Given the description of an element on the screen output the (x, y) to click on. 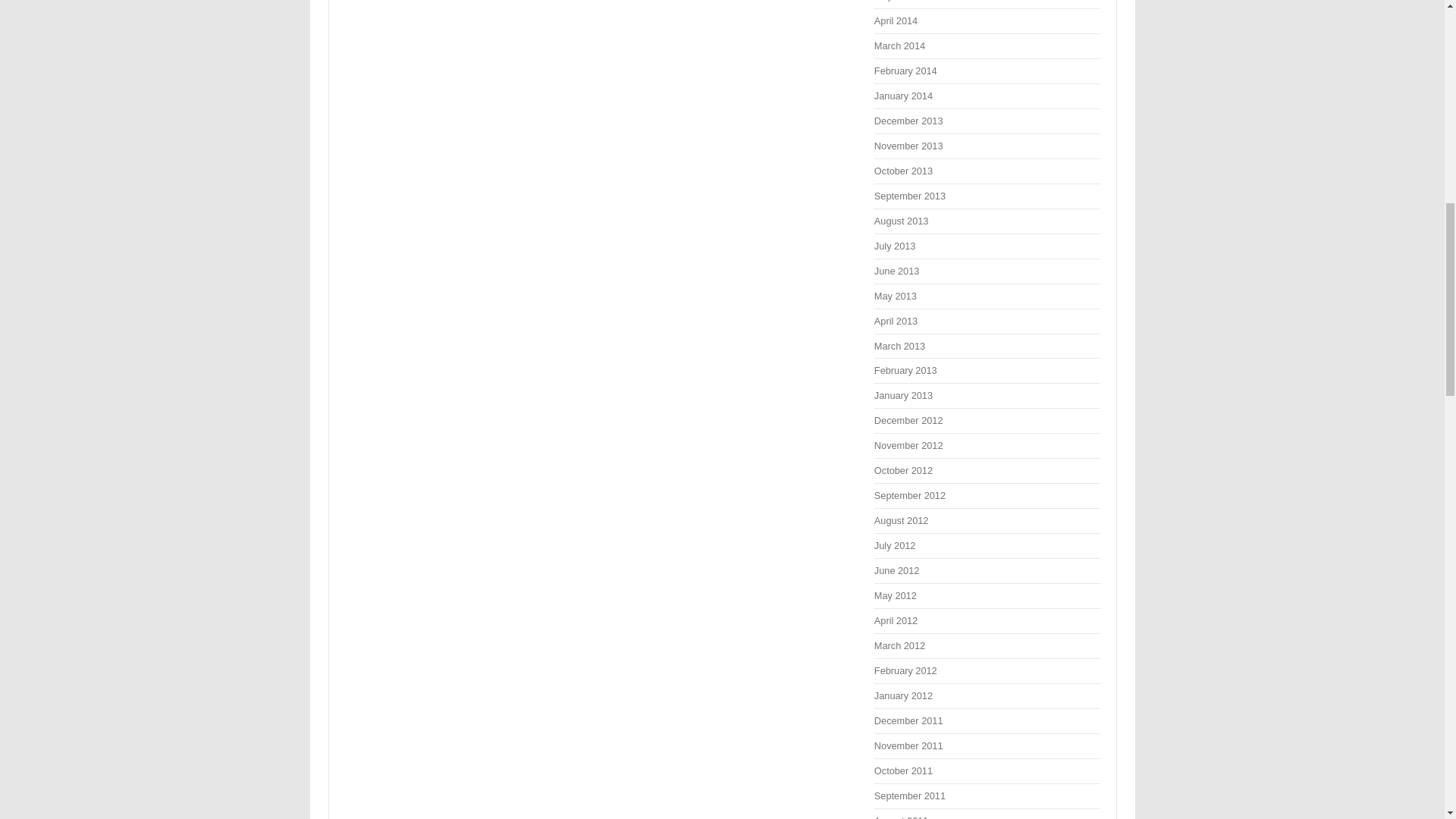
March 2014 (899, 45)
September 2013 (909, 195)
October 2012 (904, 470)
August 2012 (901, 520)
January 2013 (904, 395)
December 2012 (909, 419)
November 2012 (909, 445)
April 2013 (896, 320)
February 2013 (906, 369)
April 2014 (896, 20)
